Given the description of an element on the screen output the (x, y) to click on. 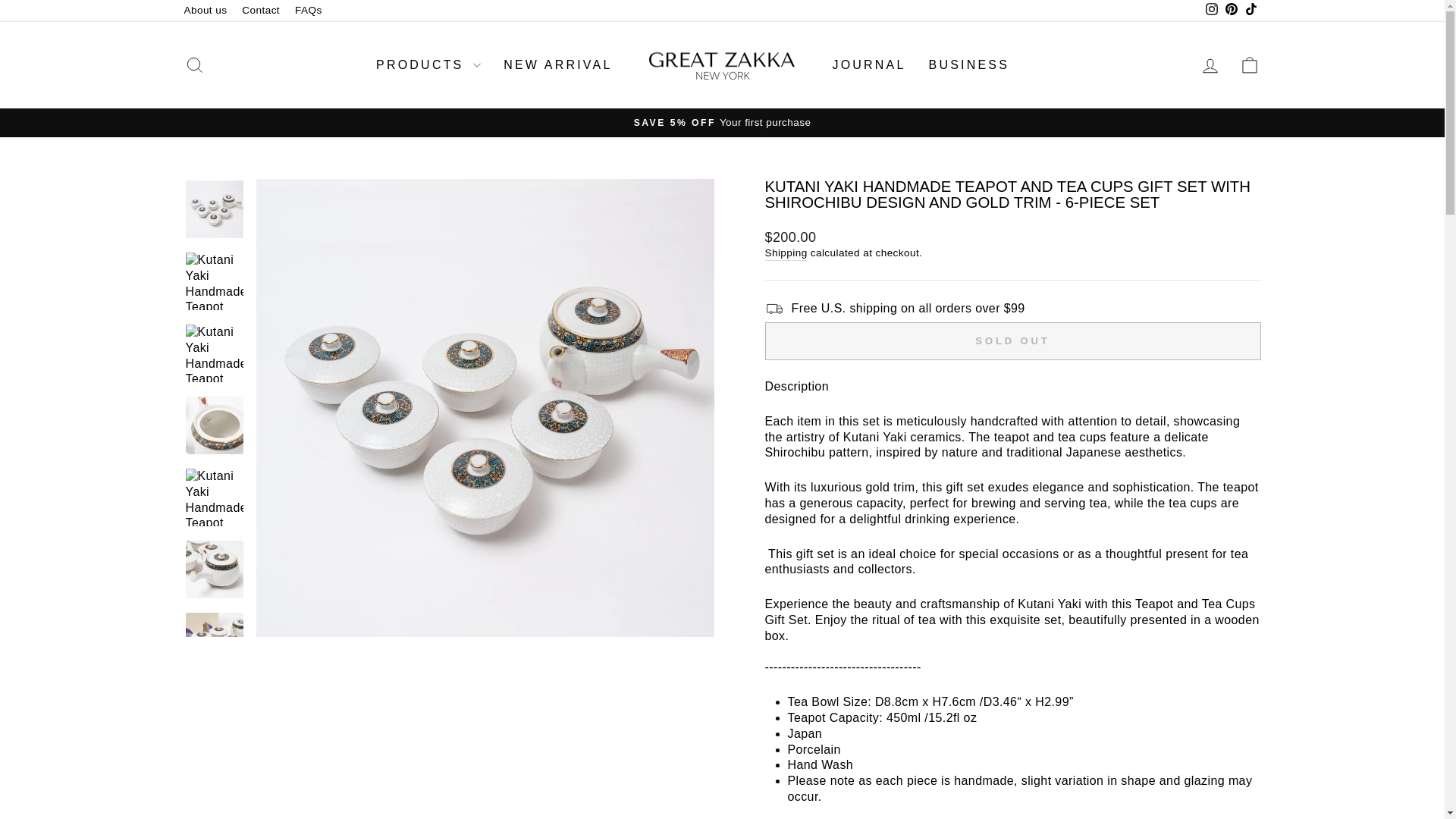
ACCOUNT (1210, 65)
ICON-SEARCH (194, 65)
instagram (1211, 9)
Great Zakka on Pinterest (1230, 10)
Great Zakka on Instagram (1211, 10)
ICON-BAG-MINIMAL (1249, 65)
Great Zakka on TikTok (1250, 10)
